Given the description of an element on the screen output the (x, y) to click on. 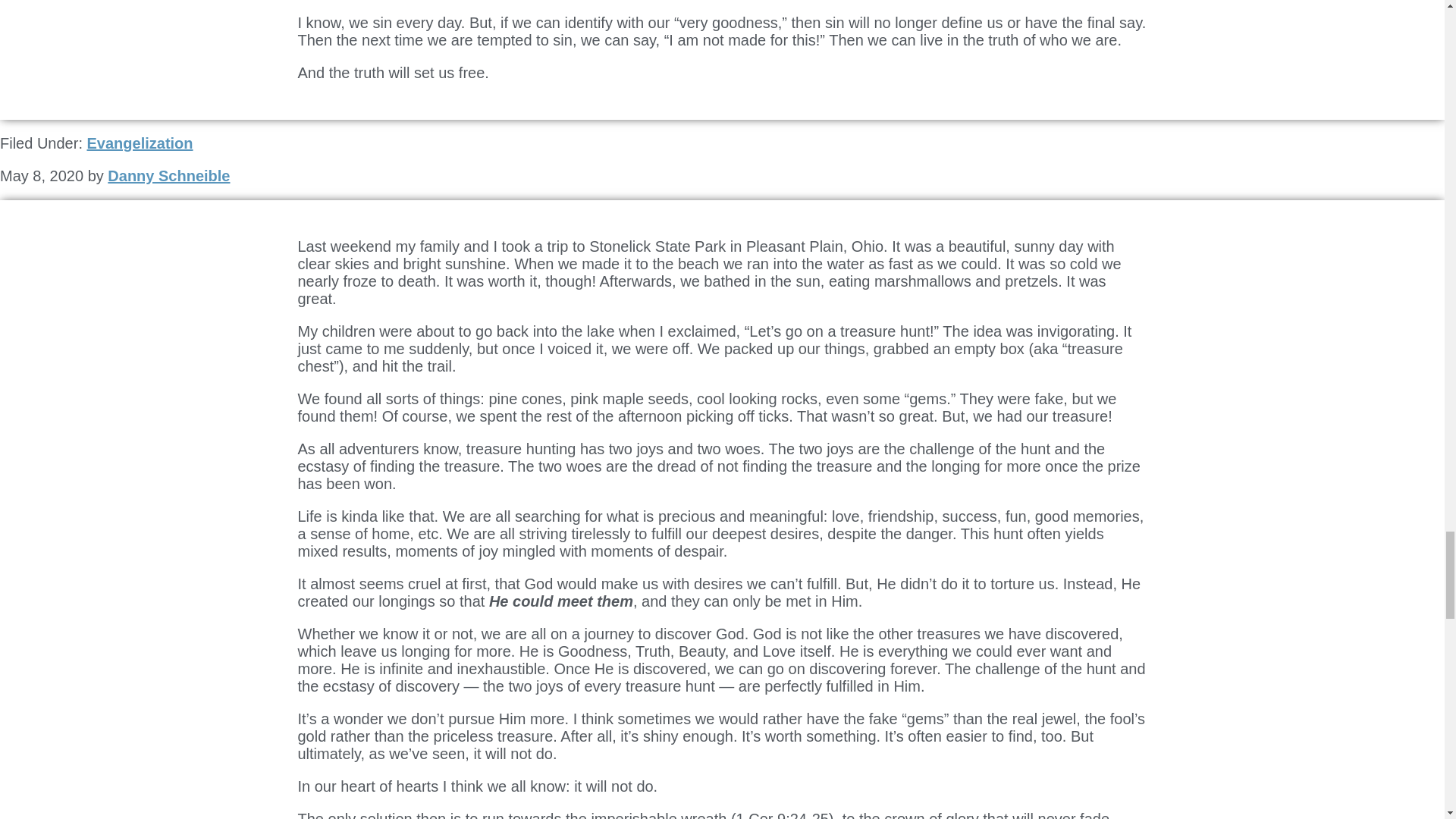
Danny Schneible (168, 175)
Evangelization (138, 143)
